Given the description of an element on the screen output the (x, y) to click on. 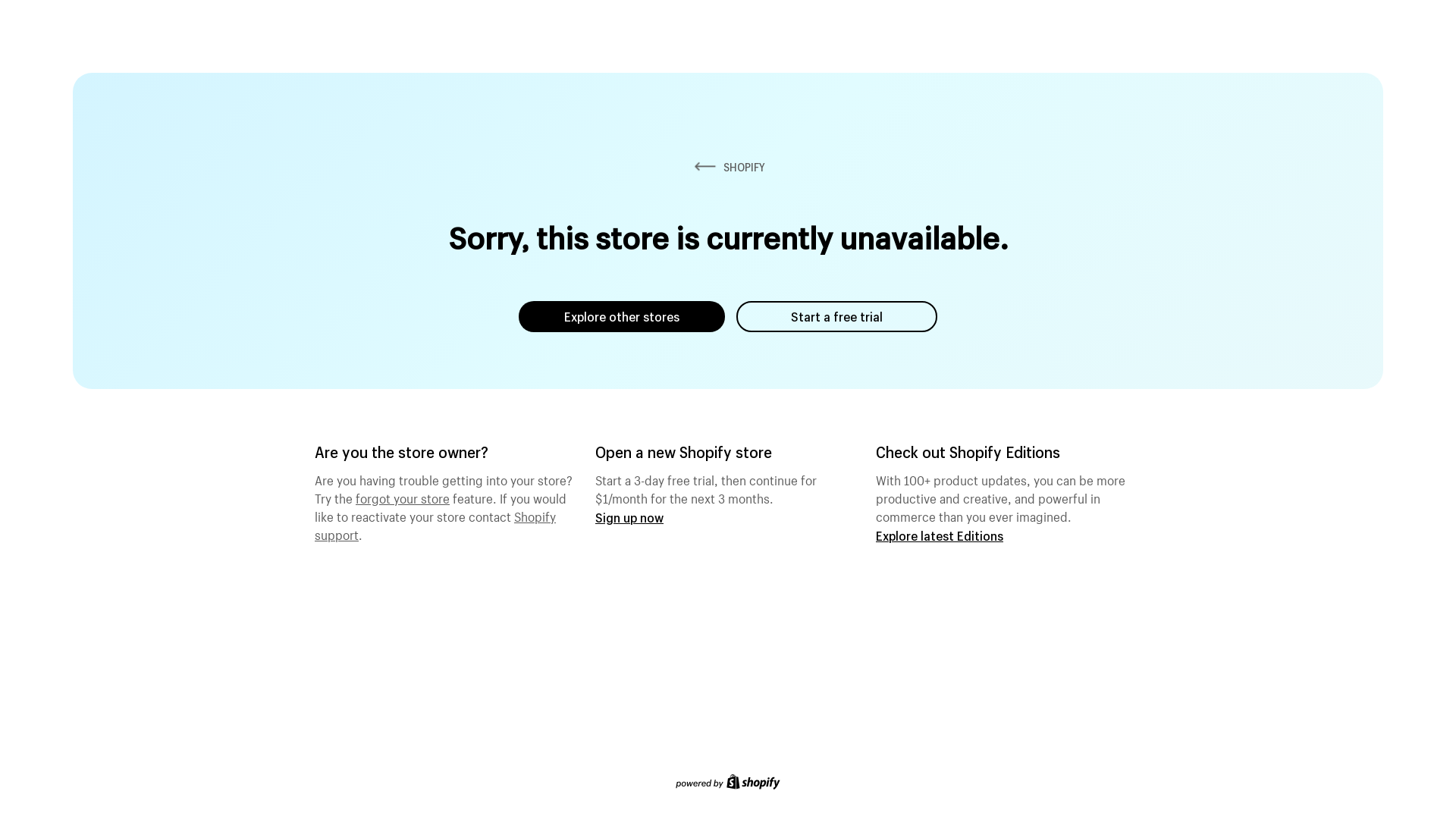
Shopify support Element type: text (434, 523)
Explore latest Editions Element type: text (939, 535)
Sign up now Element type: text (629, 517)
Explore other stores Element type: text (621, 316)
Start a free trial Element type: text (836, 316)
forgot your store Element type: text (402, 496)
SHOPIFY Element type: text (727, 167)
